Given the description of an element on the screen output the (x, y) to click on. 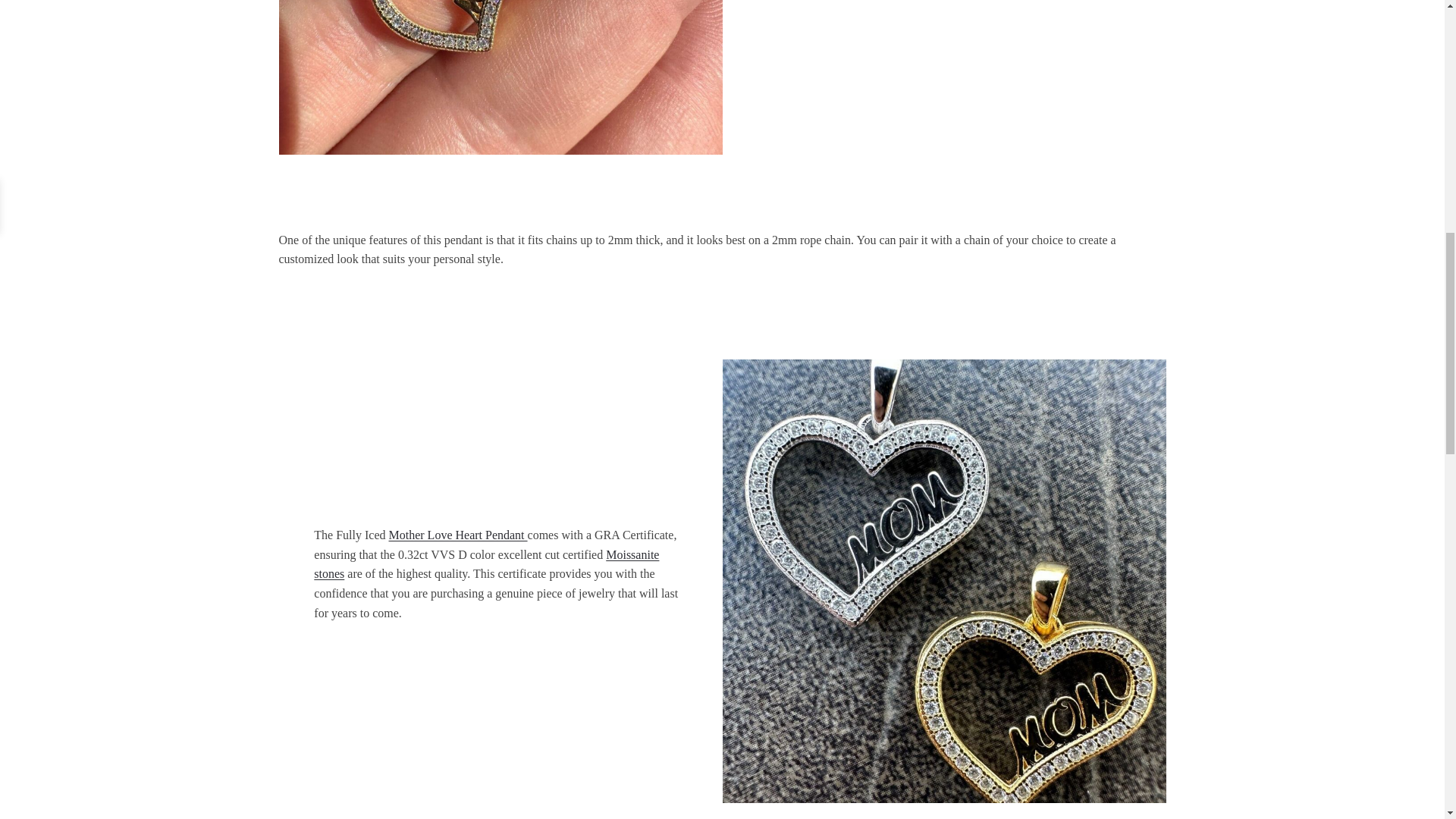
Moissanite stones (486, 563)
Mother Love Heart Pendant (457, 534)
